Given the description of an element on the screen output the (x, y) to click on. 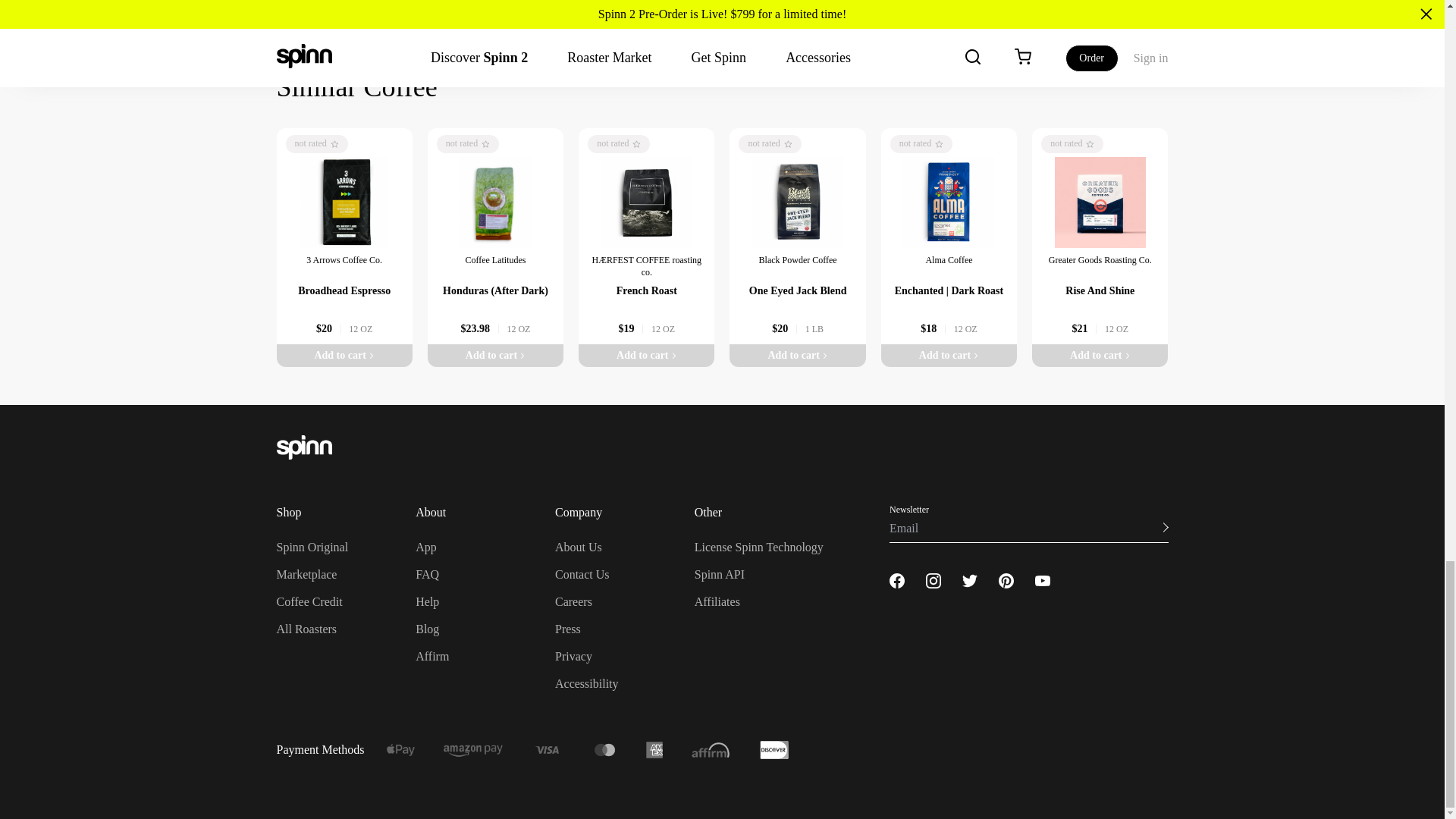
Help (426, 601)
Affirm (431, 656)
Blog (426, 628)
License Spinn Technology (759, 546)
Accessibility (586, 683)
FAQ (426, 574)
All Roasters (306, 628)
Spinn Original (311, 546)
Press (567, 628)
Coffee Credit (309, 601)
